Given the description of an element on the screen output the (x, y) to click on. 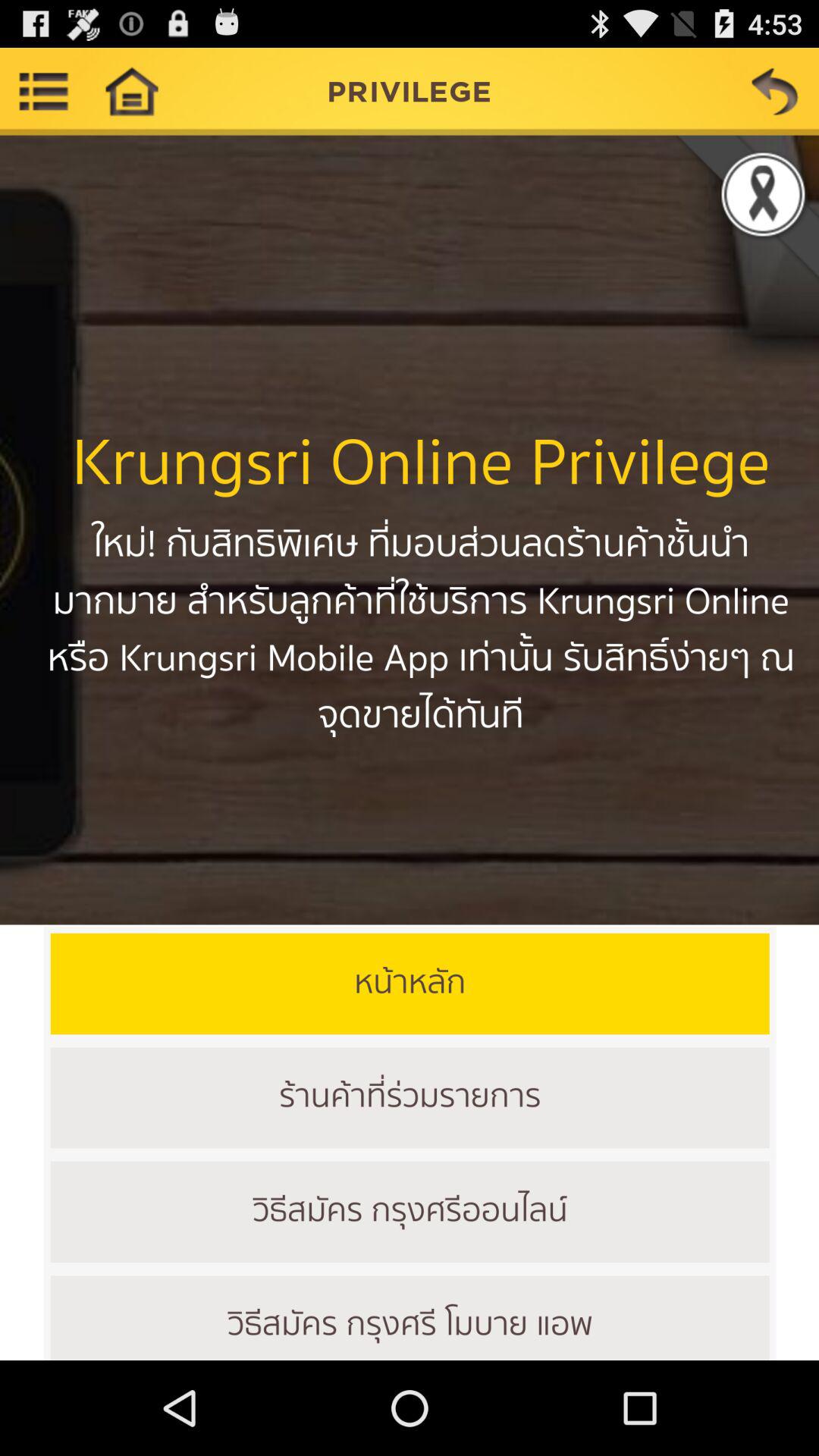
more details (43, 91)
